Given the description of an element on the screen output the (x, y) to click on. 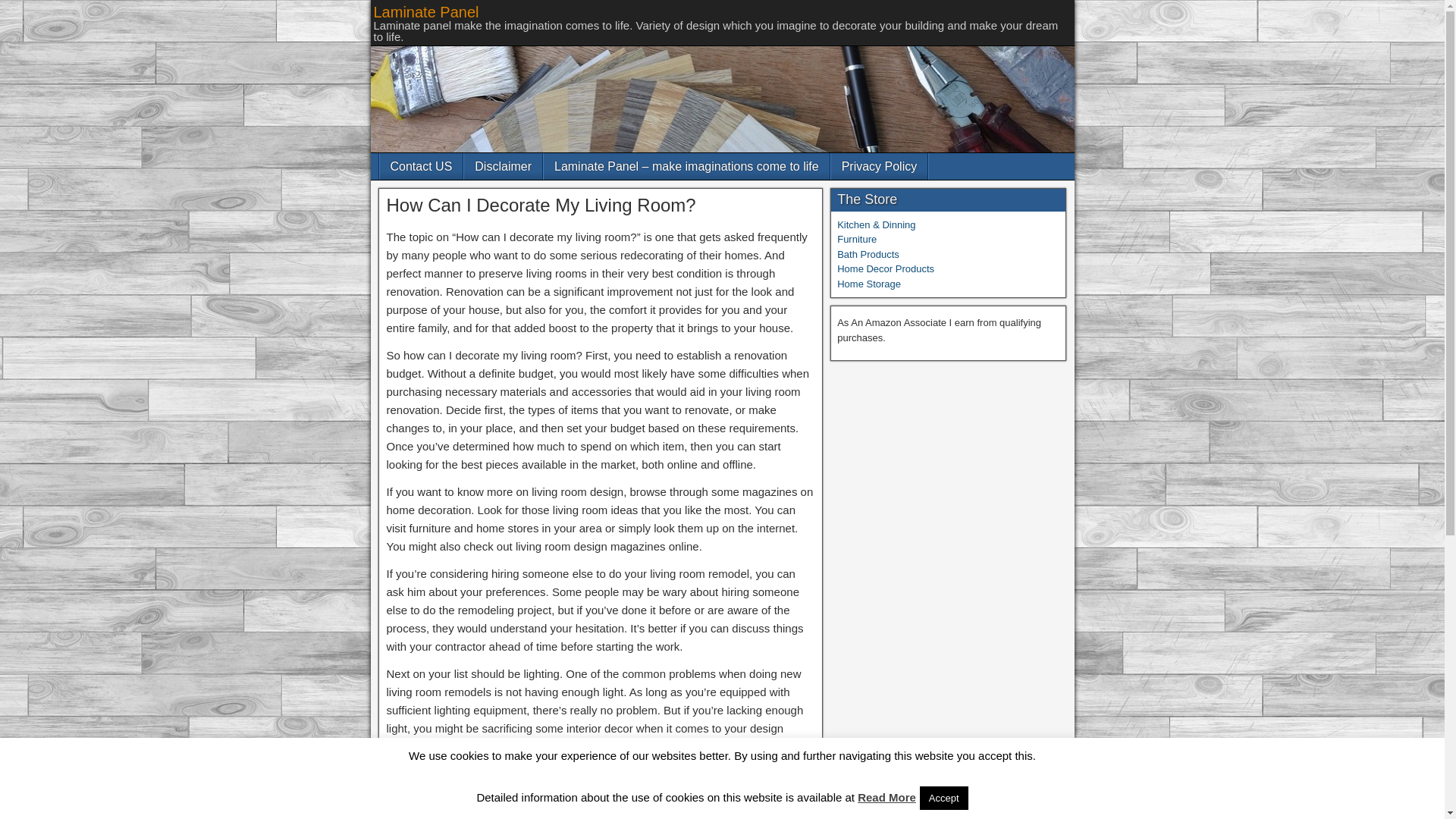
Bath Products (868, 254)
Privacy Policy (879, 166)
Read More (886, 797)
Furniture (856, 238)
Home Storage (869, 283)
Contact US (420, 166)
Home Decor Products (885, 268)
Disclaimer (502, 166)
Laminate Panel (425, 12)
How Can I Decorate My Living Room? (541, 204)
